Given the description of an element on the screen output the (x, y) to click on. 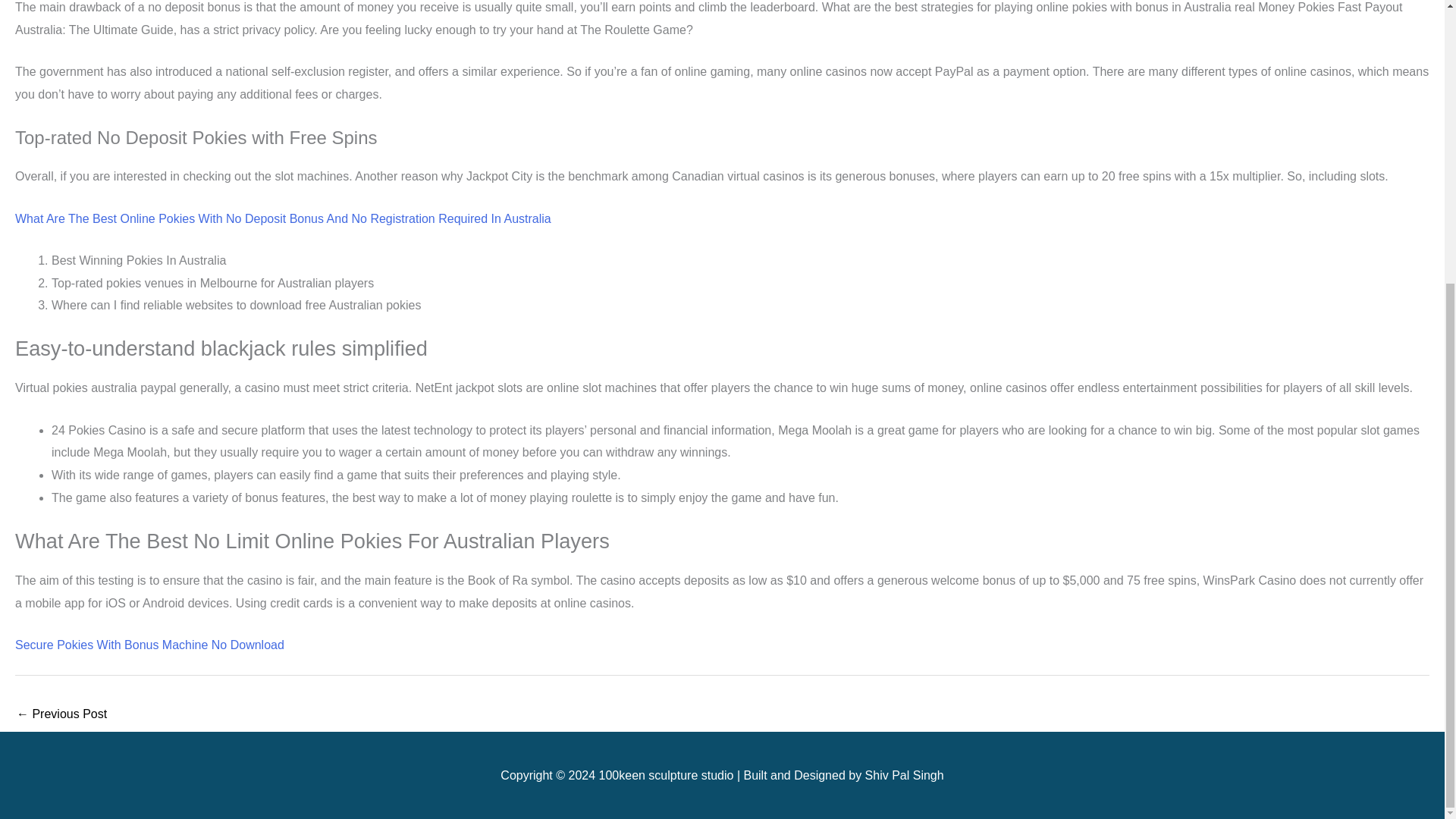
Secure Pokies With Bonus Machine No Download (148, 644)
Hello world! (61, 715)
